Given the description of an element on the screen output the (x, y) to click on. 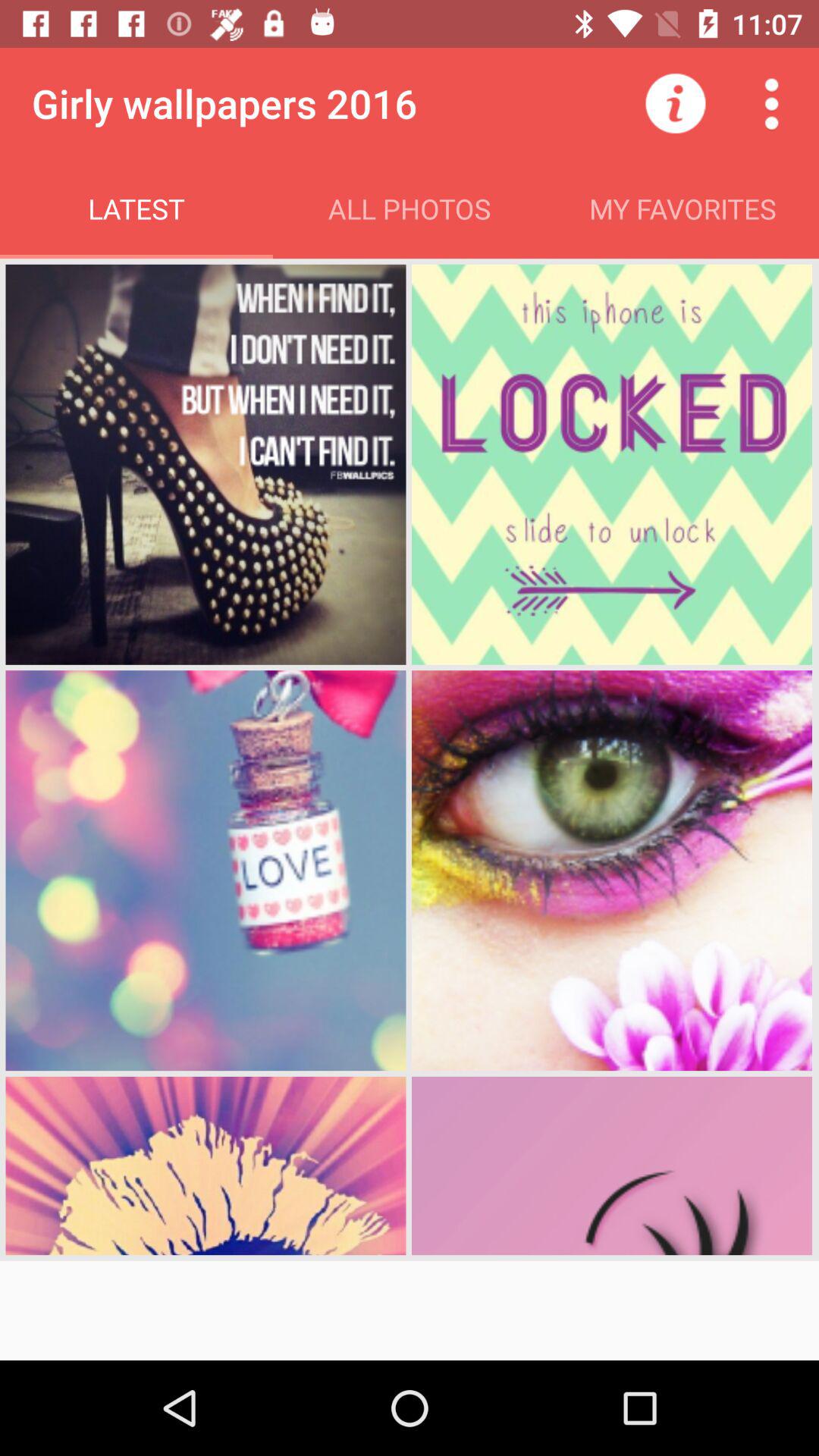
launch the icon to the right of all photos app (675, 103)
